Given the description of an element on the screen output the (x, y) to click on. 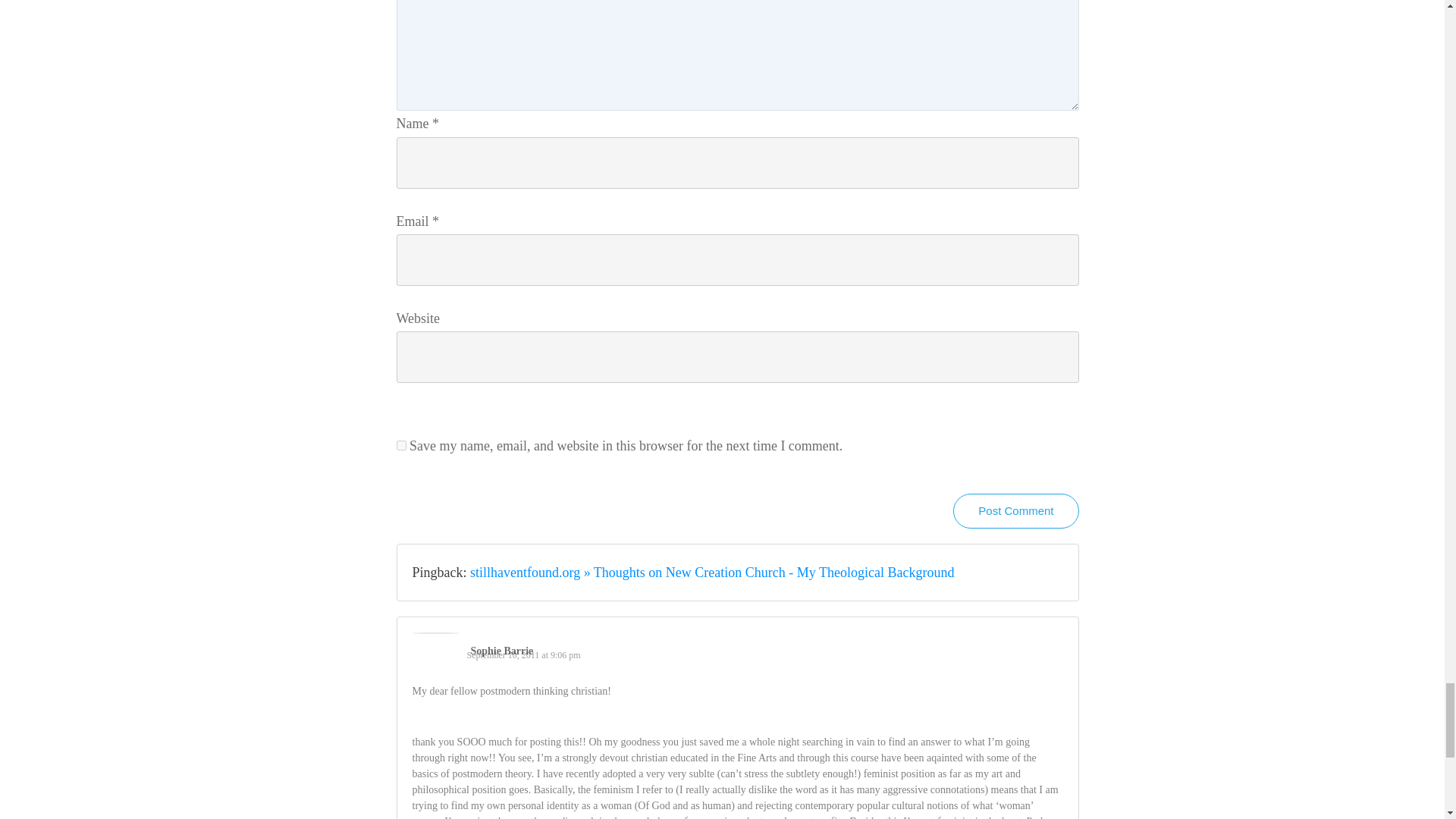
September 10, 2011 at 9:06 pm (523, 655)
Post Comment (1015, 510)
yes (401, 445)
